Given the description of an element on the screen output the (x, y) to click on. 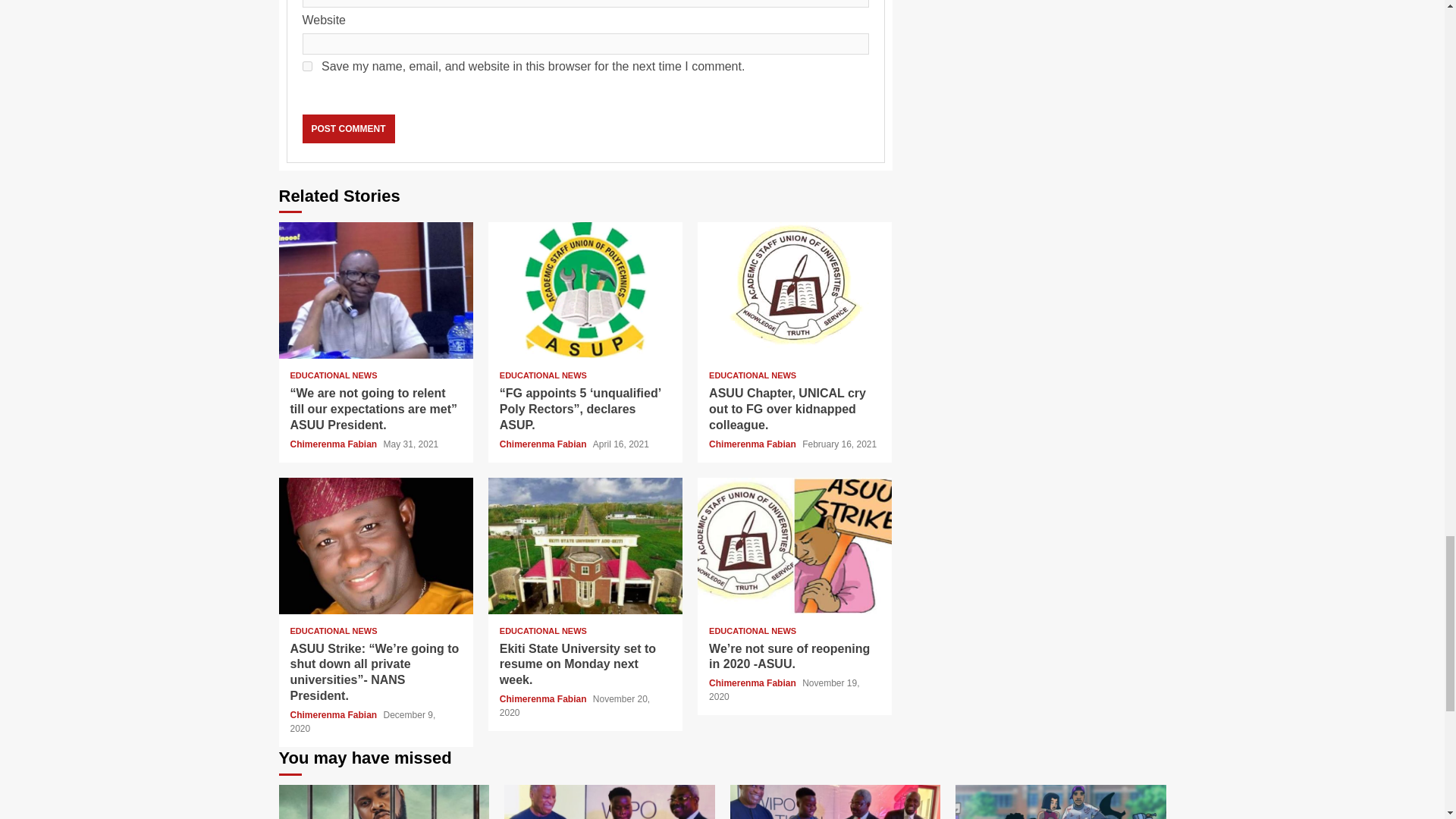
Post Comment (347, 128)
Chimerenma Fabian (544, 443)
EDUCATIONAL NEWS (542, 631)
EDUCATIONAL NEWS (333, 631)
Chimerenma Fabian (753, 443)
EDUCATIONAL NEWS (542, 375)
ASUU Chapter, UNICAL cry out to FG over kidnapped colleague. (787, 408)
EDUCATIONAL NEWS (333, 375)
Post Comment (347, 128)
Chimerenma Fabian (333, 443)
